Given the description of an element on the screen output the (x, y) to click on. 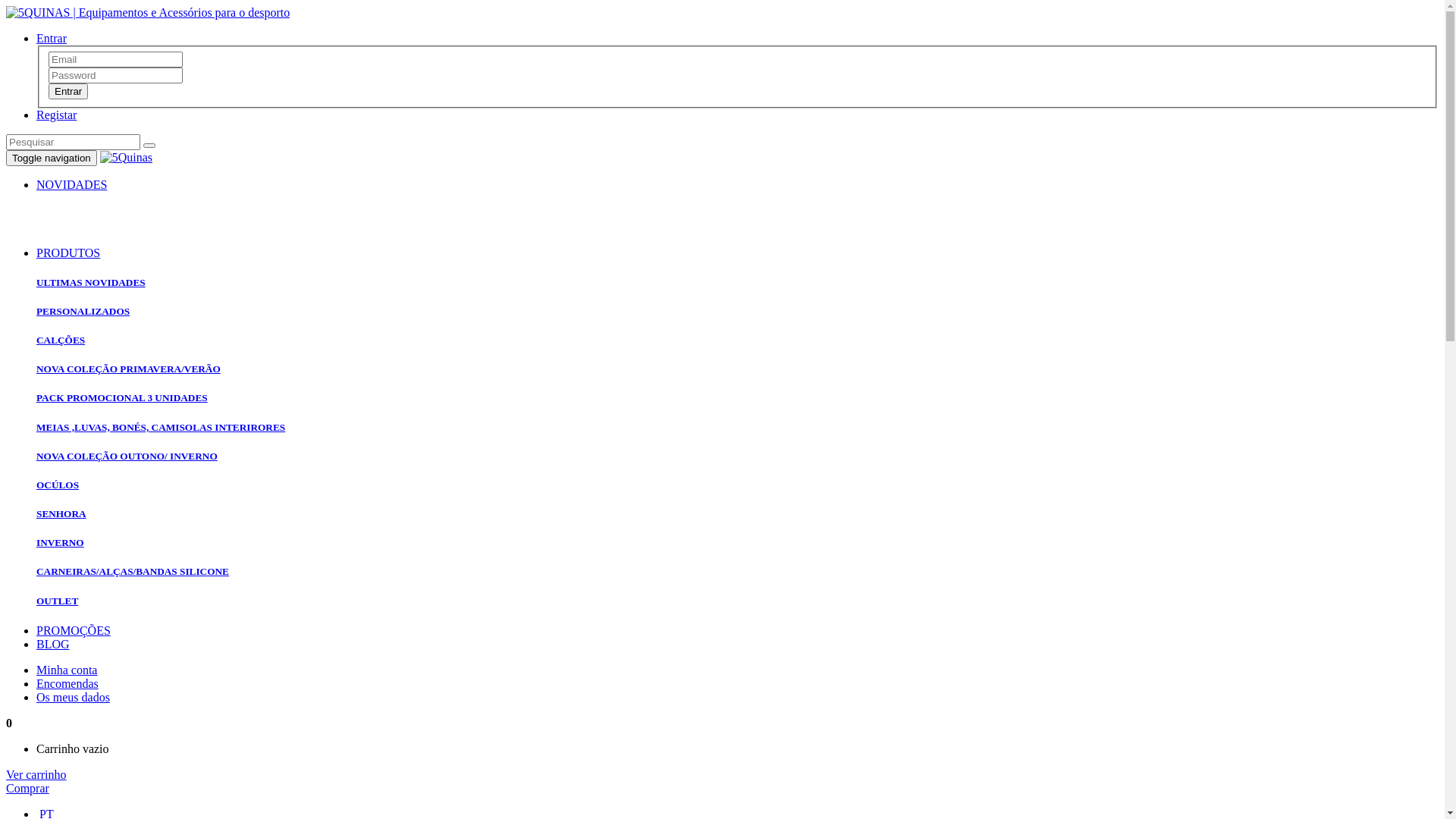
OUTLET Element type: text (57, 600)
Entrar Element type: text (67, 91)
Os meus dados Element type: text (72, 696)
Ver carrinho Element type: text (36, 774)
0 Element type: text (9, 722)
BLOG Element type: text (52, 643)
SENHORA Element type: text (61, 513)
PERSONALIZADOS Element type: text (82, 310)
Minha conta Element type: text (66, 669)
Registar Element type: text (56, 114)
ULTIMAS NOVIDADES Element type: text (90, 282)
Entrar Element type: text (51, 37)
Encomendas Element type: text (67, 683)
PRODUTOS Element type: text (68, 252)
Comprar Element type: text (27, 787)
INVERNO Element type: text (60, 542)
PACK PROMOCIONAL 3 UNIDADES Element type: text (121, 397)
NOVIDADES Element type: text (71, 184)
Toggle navigation Element type: text (51, 158)
